Given the description of an element on the screen output the (x, y) to click on. 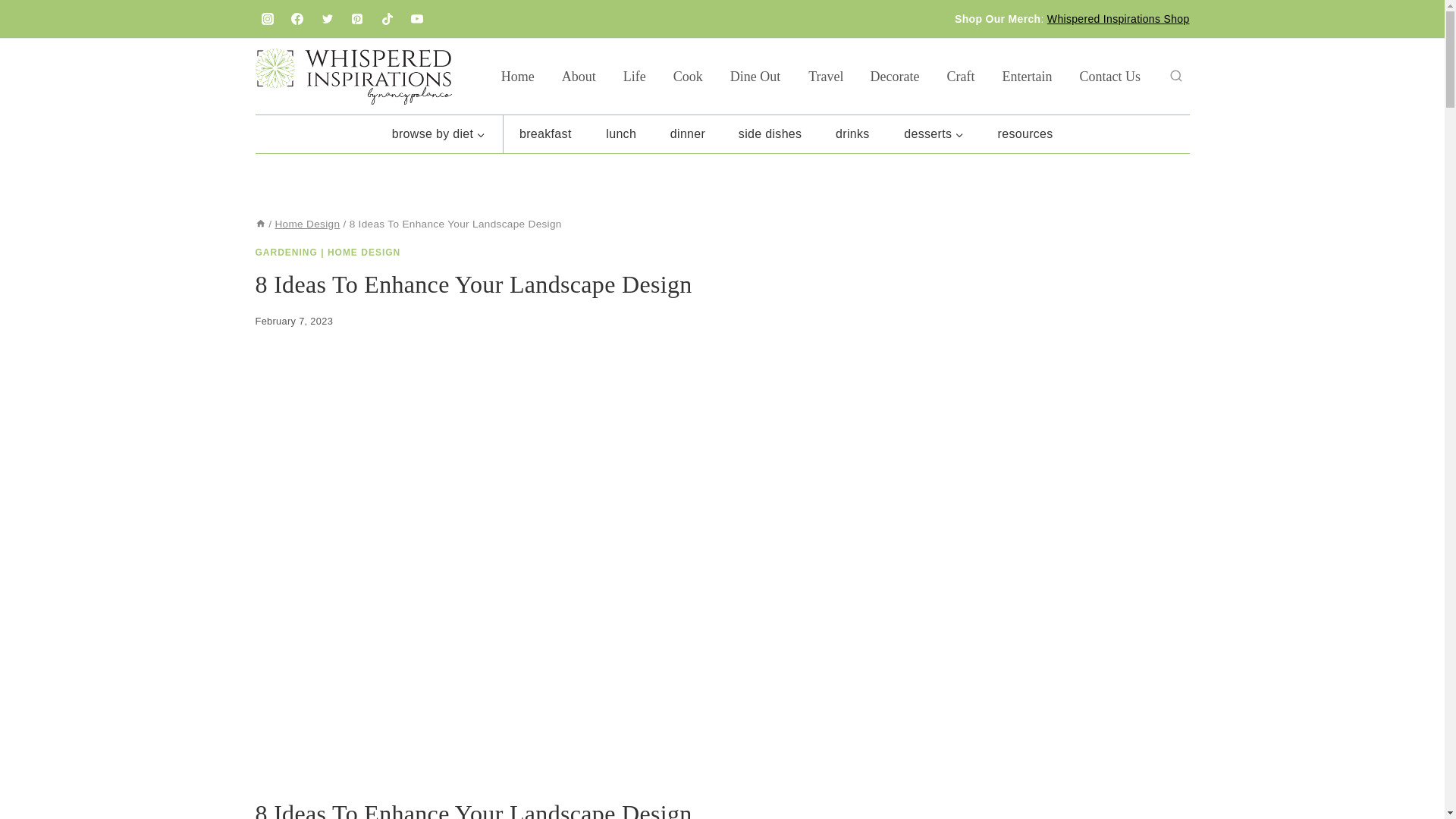
Cook (687, 76)
Entertain (1026, 76)
Dine Out (755, 76)
Travel (825, 76)
Decorate (895, 76)
Life (634, 76)
Craft (960, 76)
Whispered Inspirations Shop (1117, 19)
desserts (933, 134)
Home (517, 76)
About (579, 76)
resources (1024, 134)
drinks (852, 134)
lunch (620, 134)
Contact Us (1109, 76)
